Given the description of an element on the screen output the (x, y) to click on. 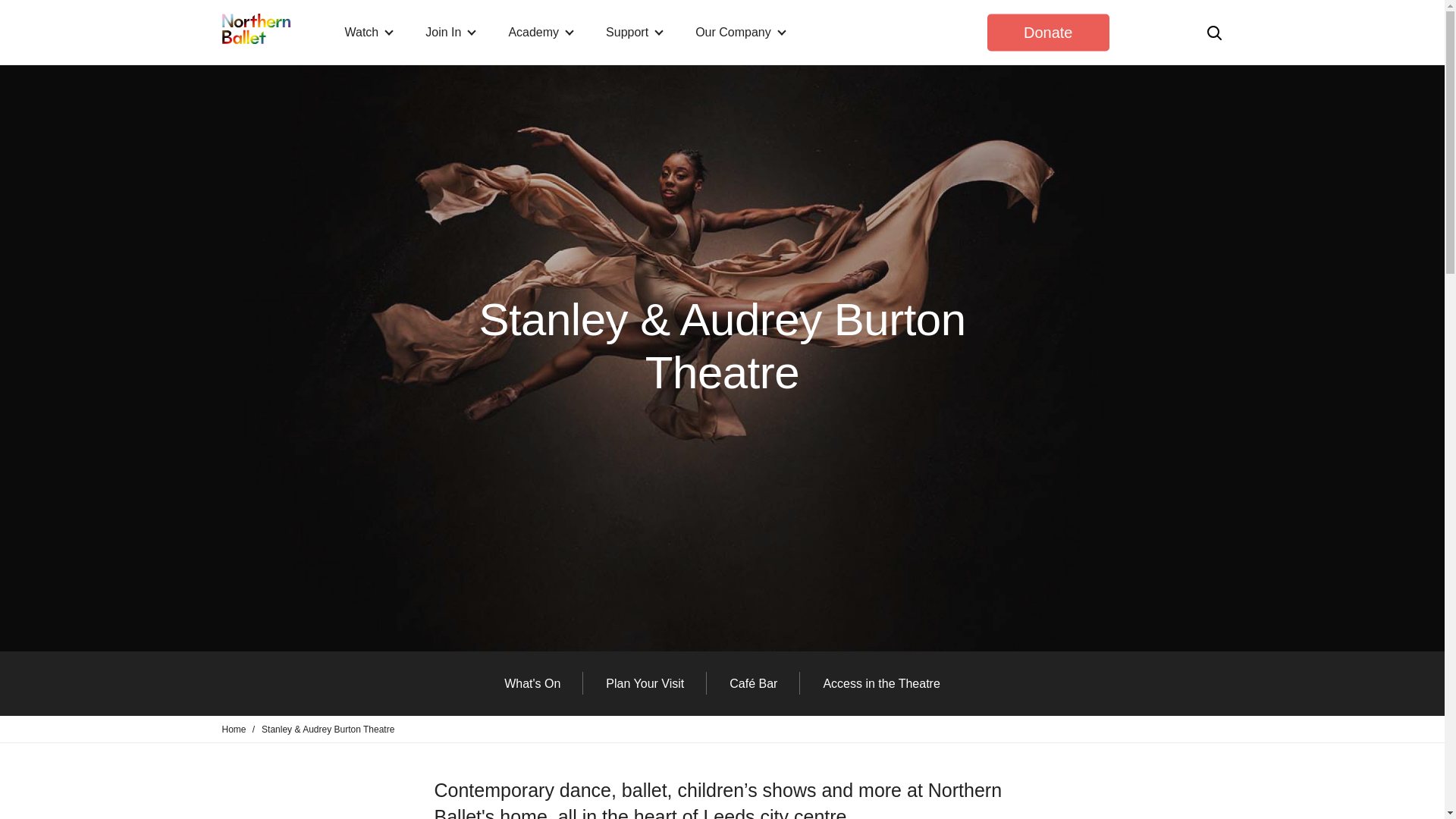
Watch (368, 31)
Join In (450, 31)
Donate (1048, 31)
